Given the description of an element on the screen output the (x, y) to click on. 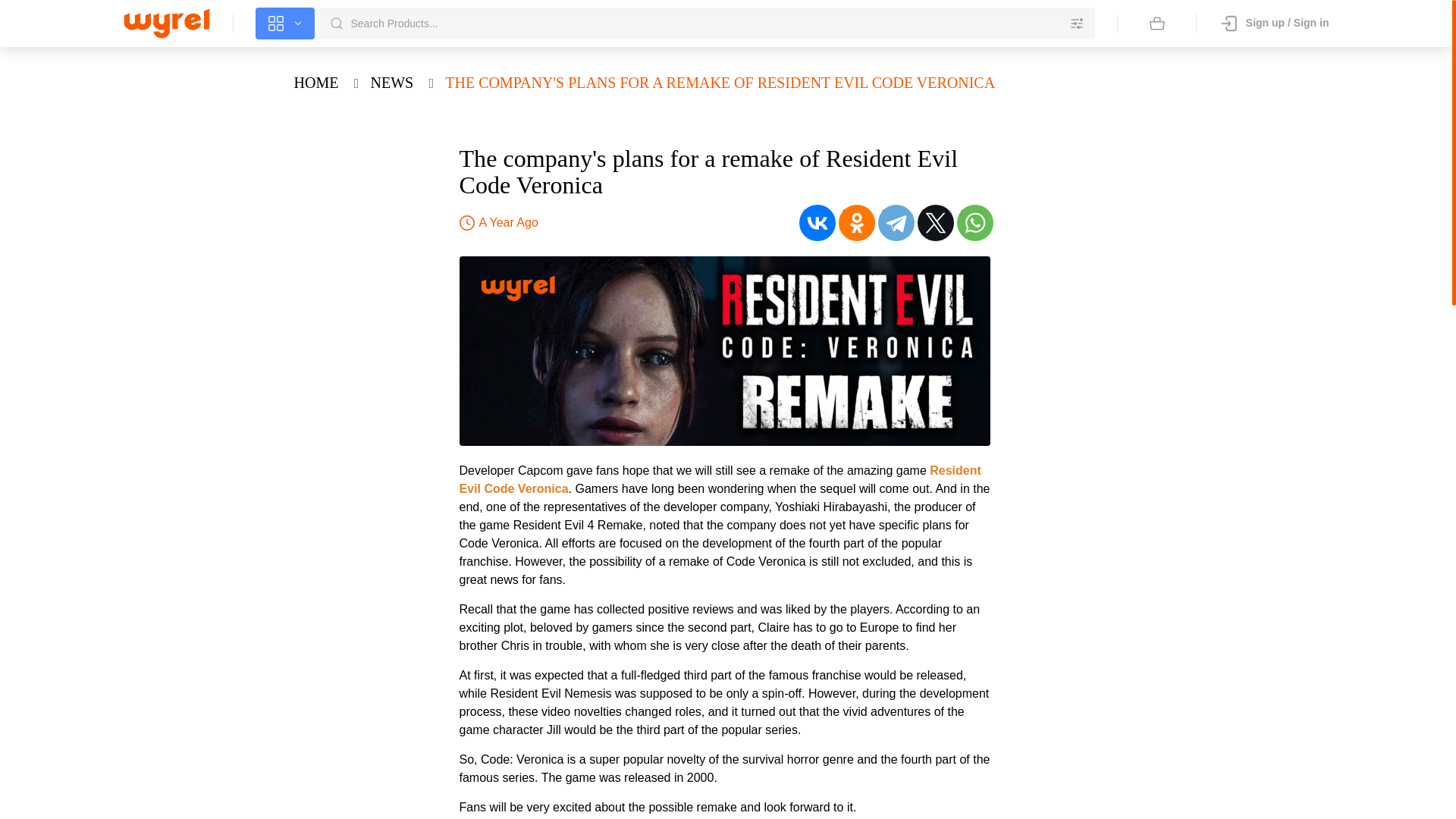
Telegram (895, 222)
VKontakte (817, 222)
Twitter (935, 222)
Odnoklassniki (856, 222)
WhatsApp (974, 222)
